Given the description of an element on the screen output the (x, y) to click on. 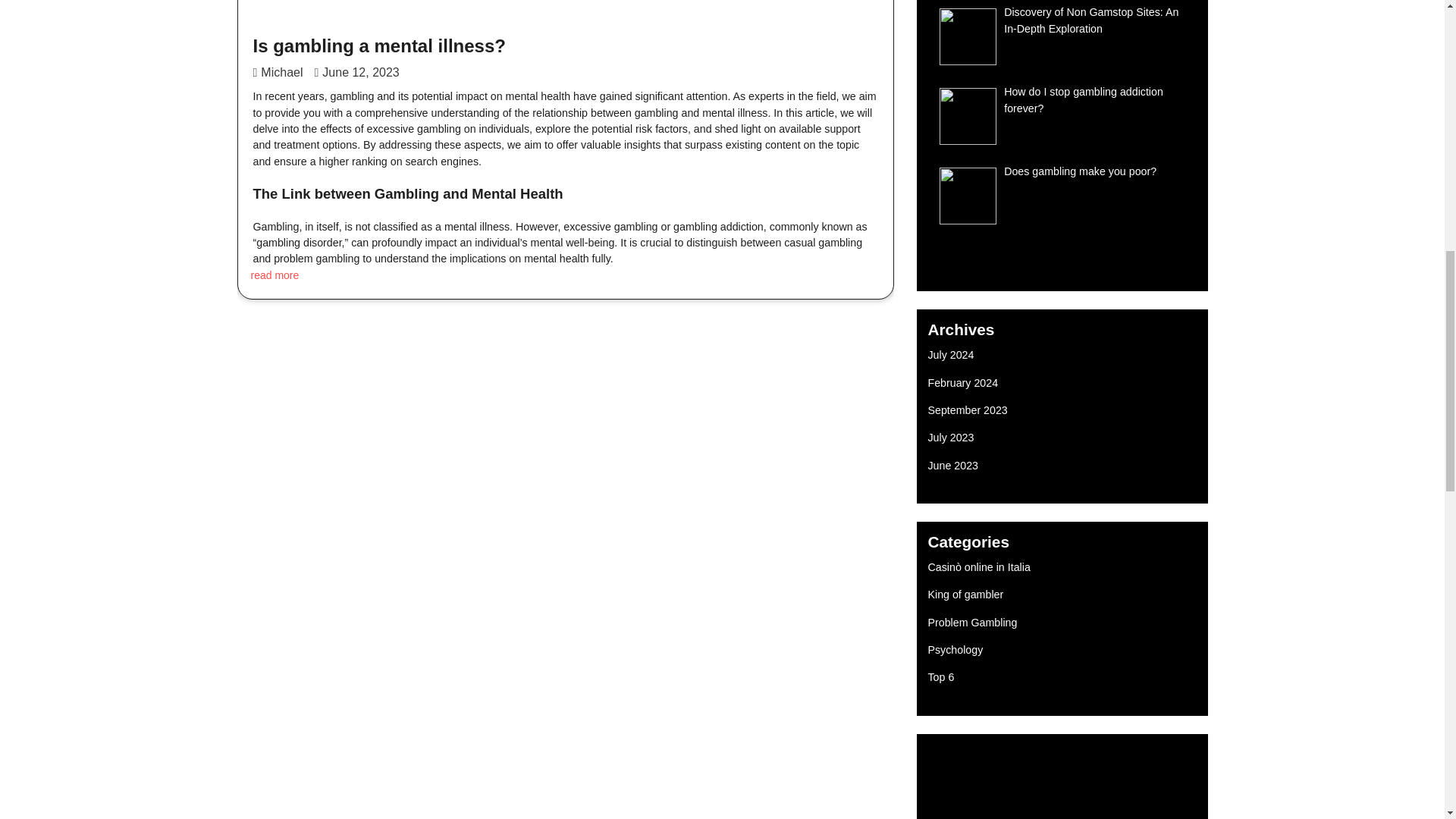
February 2024 (963, 382)
How do I stop gambling addiction forever? (1083, 99)
Discovery of Non Gamstop Sites: An In-Depth Exploration (1090, 19)
read more (274, 275)
Psychology (956, 649)
June 2023 (953, 465)
Does gambling make you poor? (1080, 171)
September 2023 (967, 410)
July 2024 (951, 354)
Is gambling a mental illness? (379, 46)
